Given the description of an element on the screen output the (x, y) to click on. 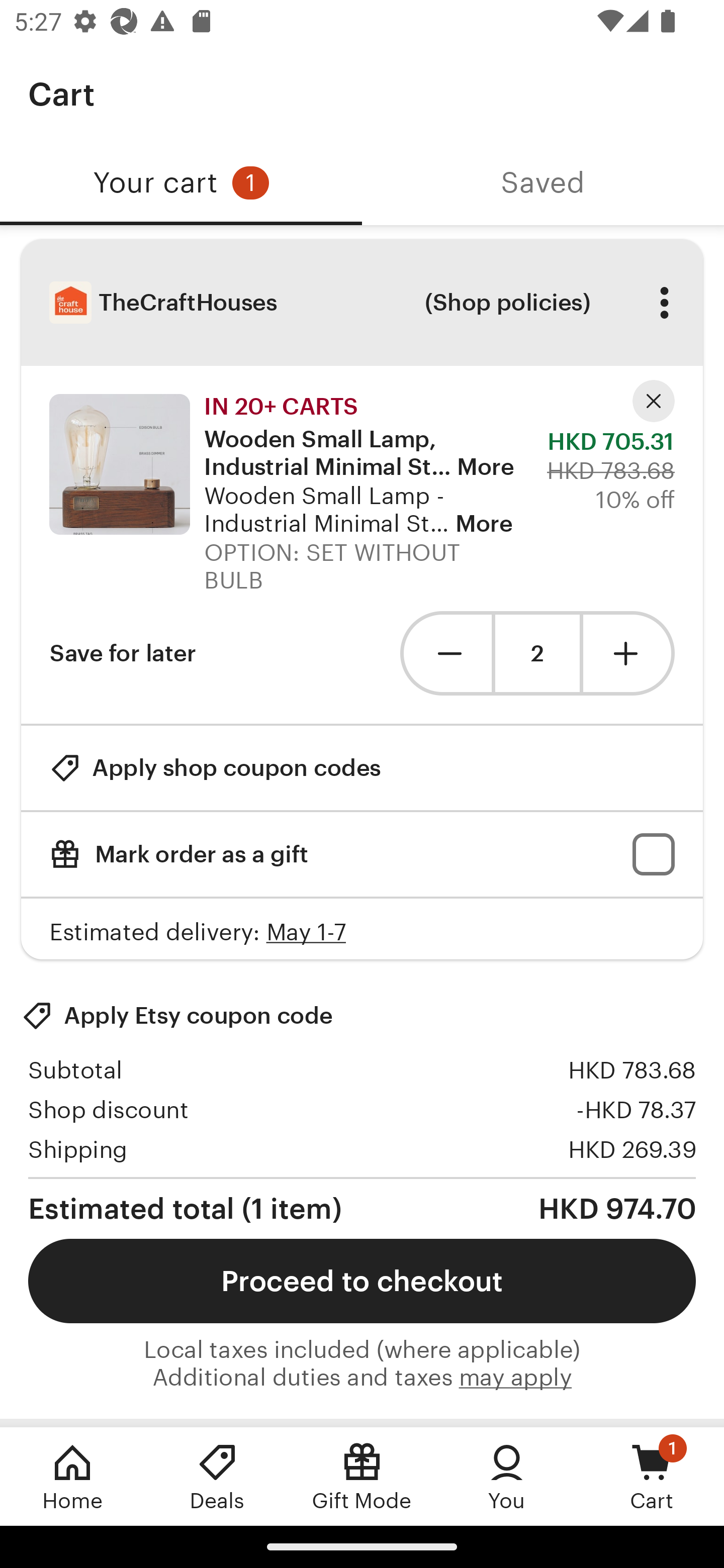
Saved, tab 2 of 2 Saved (543, 183)
TheCraftHouses (Shop policies) More options (361, 302)
(Shop policies) (507, 302)
More options (663, 302)
Save for later (122, 653)
Remove one unit from cart (445, 653)
Add one unit to cart (628, 653)
2 (537, 653)
Apply shop coupon codes (215, 767)
Mark order as a gift (361, 854)
Apply Etsy coupon code (177, 1015)
Proceed to checkout (361, 1280)
Home (72, 1475)
Deals (216, 1475)
Gift Mode (361, 1475)
You (506, 1475)
